Given the description of an element on the screen output the (x, y) to click on. 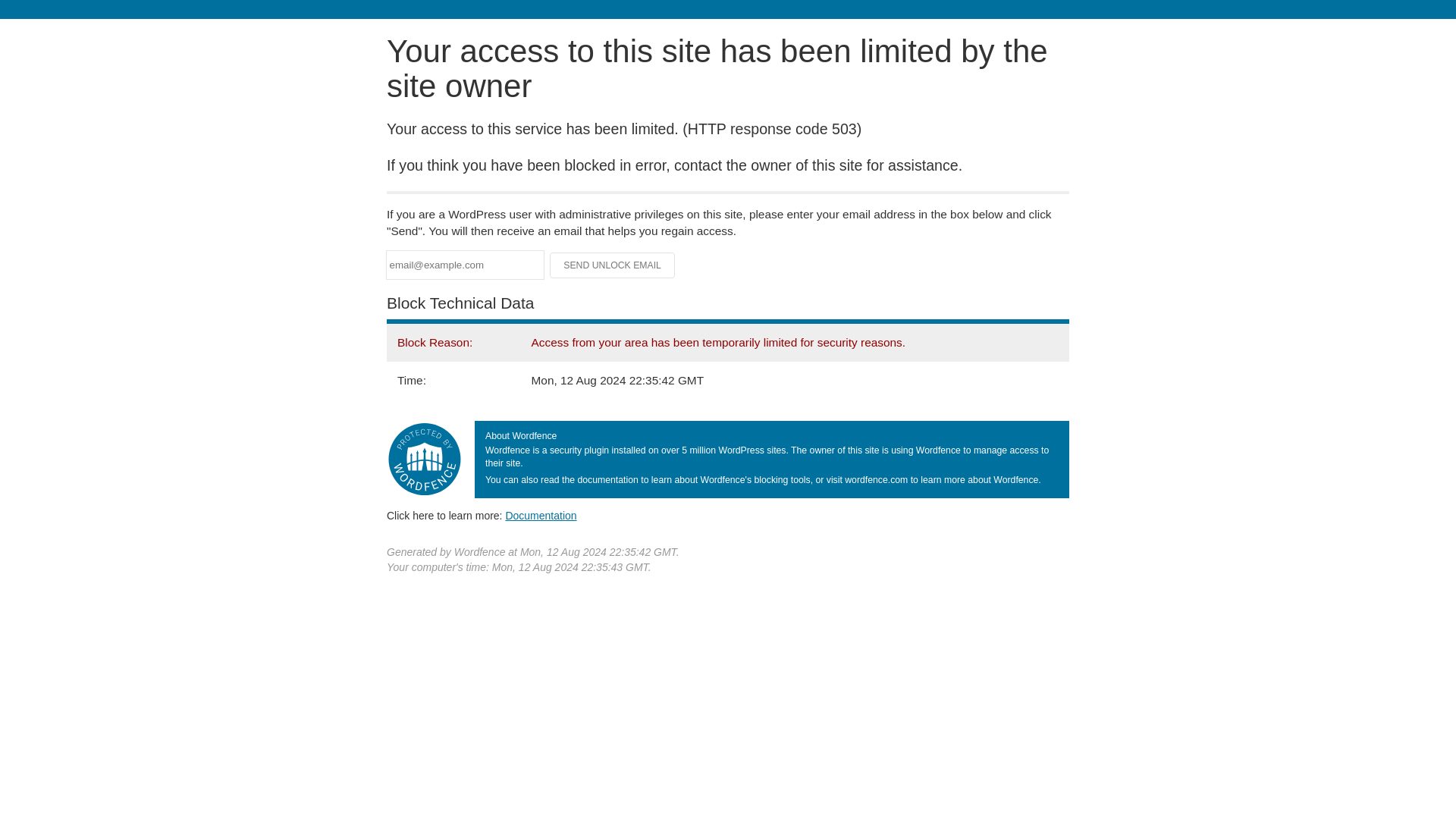
Send Unlock Email (612, 265)
Send Unlock Email (612, 265)
Documentation (540, 515)
